Given the description of an element on the screen output the (x, y) to click on. 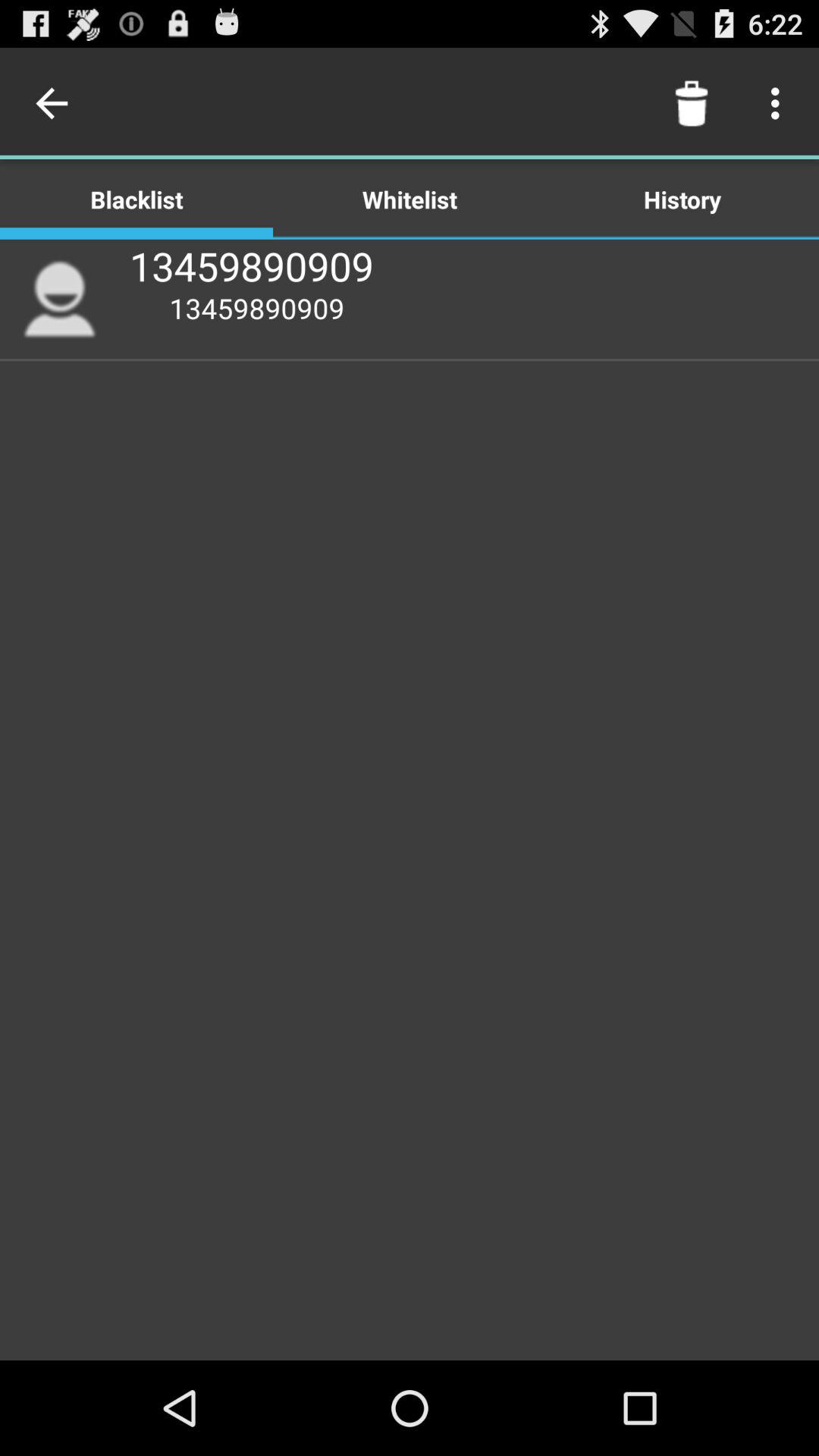
open the item above history item (779, 103)
